Given the description of an element on the screen output the (x, y) to click on. 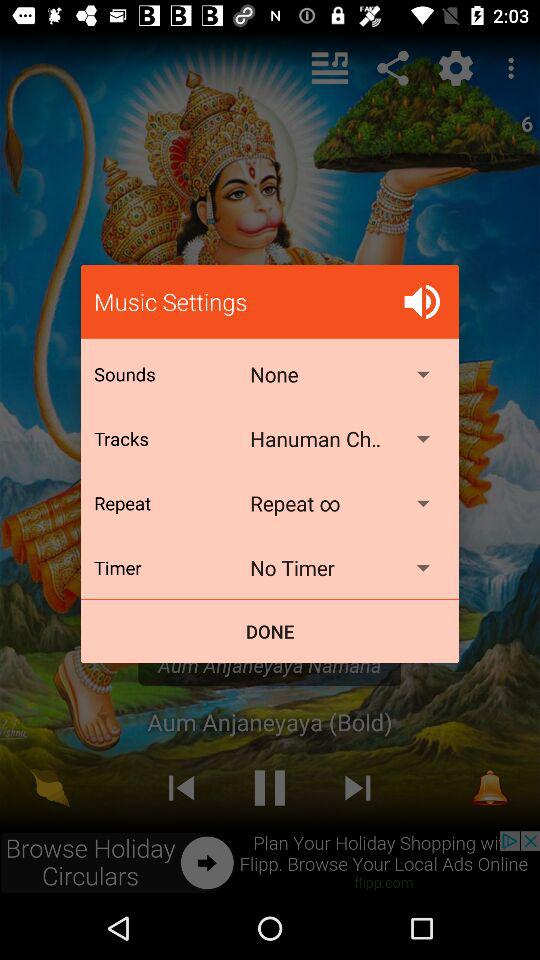
choose the icon to the right of music settings item (421, 301)
